Given the description of an element on the screen output the (x, y) to click on. 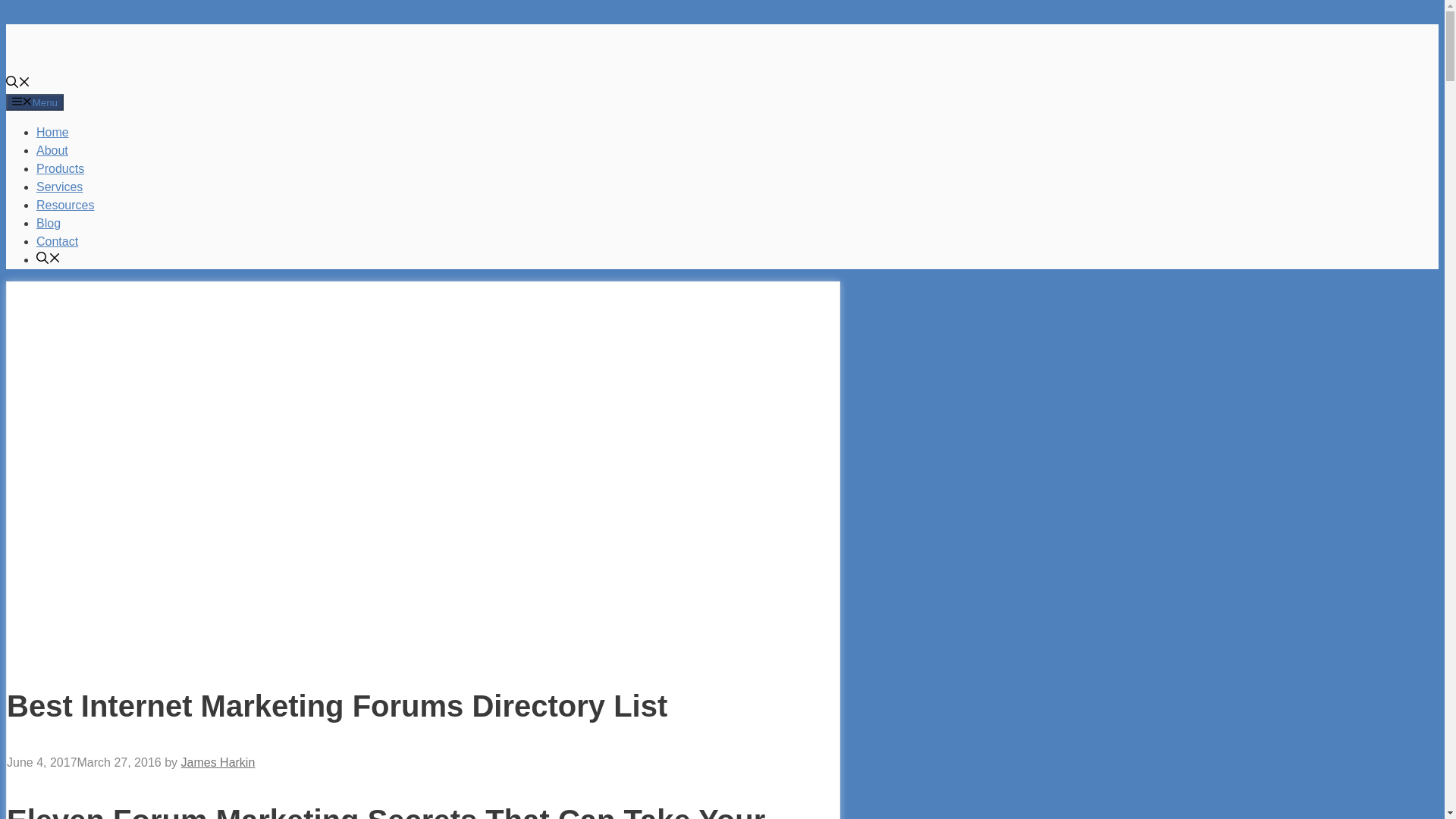
Home (52, 132)
Skip to content (45, 14)
About (52, 150)
Products (60, 168)
Services (59, 186)
Contact (57, 241)
View all posts by James Harkin (218, 762)
Skip to content (45, 14)
James Harkin (119, 46)
James Harkin (218, 762)
Menu (34, 102)
James Harkin (119, 65)
Resources (65, 205)
Blog (48, 223)
